Given the description of an element on the screen output the (x, y) to click on. 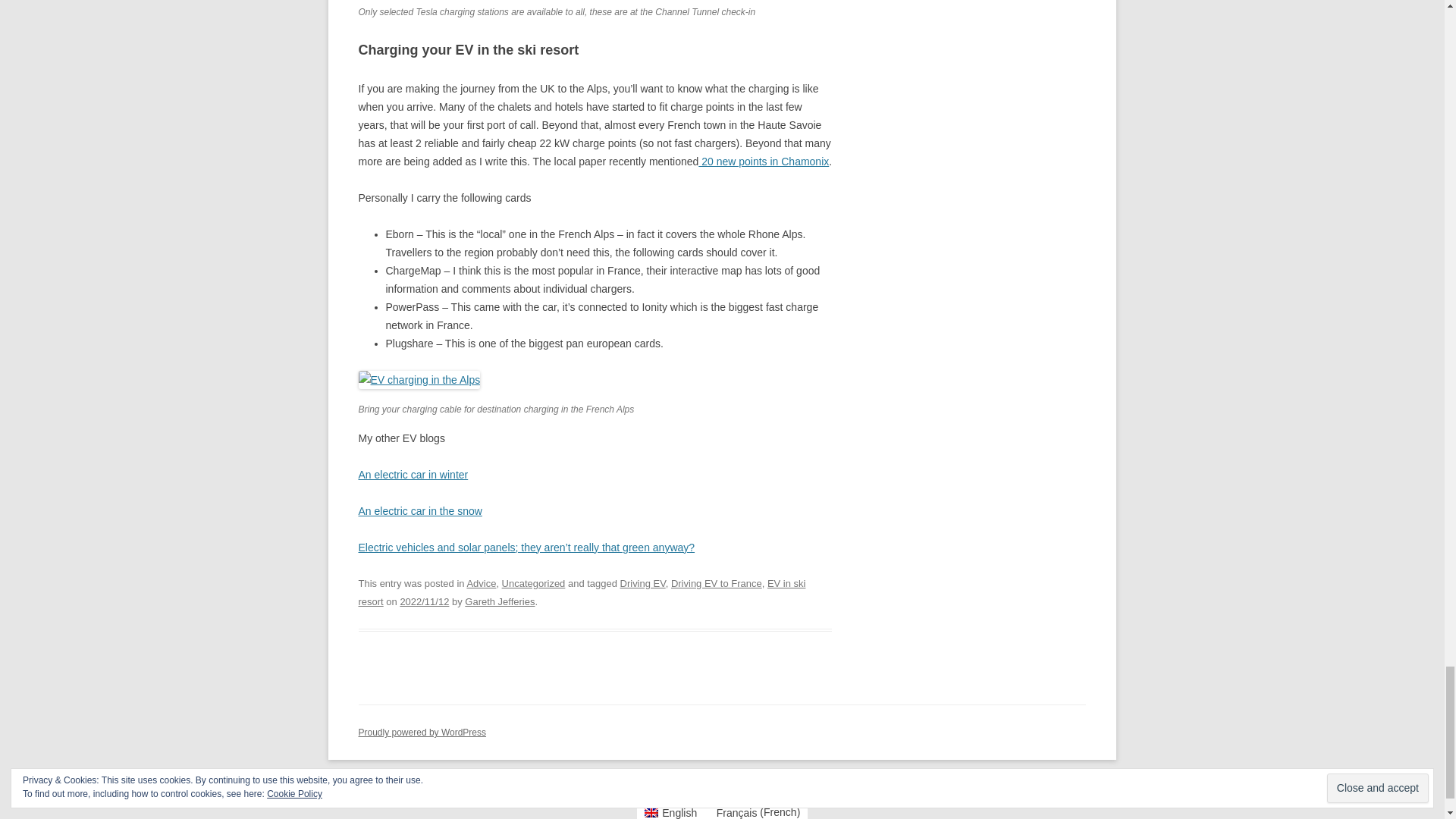
Advice (480, 583)
5:35 pm (423, 600)
Driving EV (642, 583)
Semantic Personal Publishing Platform (422, 732)
View all posts by Gareth Jefferies (499, 600)
EV in ski resort (581, 592)
An electric car in winter (412, 474)
Gareth Jefferies (499, 600)
An electric car in the snow (419, 510)
Driving EV to France (716, 583)
